Given the description of an element on the screen output the (x, y) to click on. 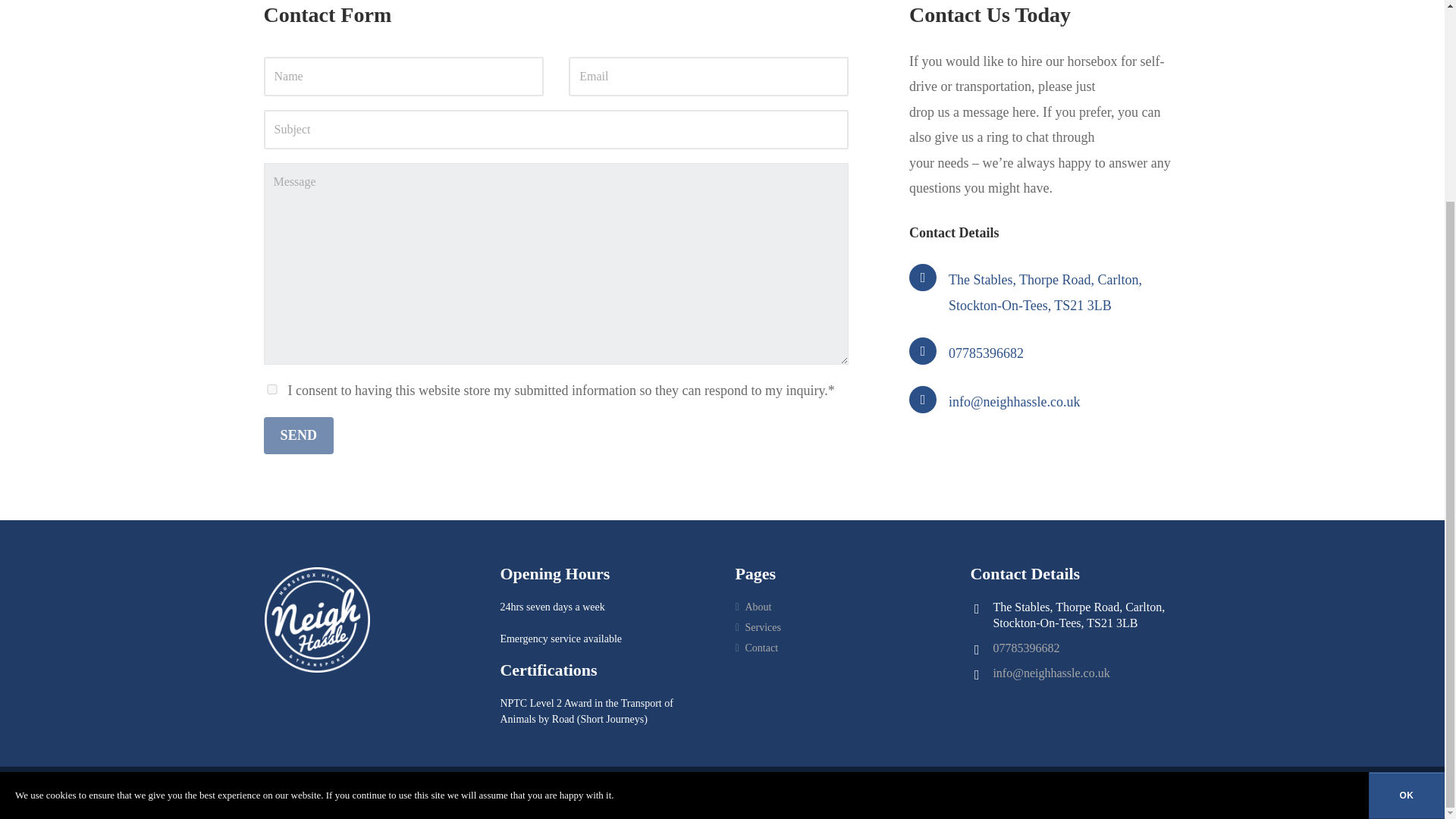
Terms and Conditions (520, 790)
Services (762, 624)
07785396682 (986, 353)
Go Limitless (630, 790)
Contact (760, 645)
07785396682 (1025, 647)
Privacy Policy (441, 790)
About (757, 606)
on (272, 388)
